Given the description of an element on the screen output the (x, y) to click on. 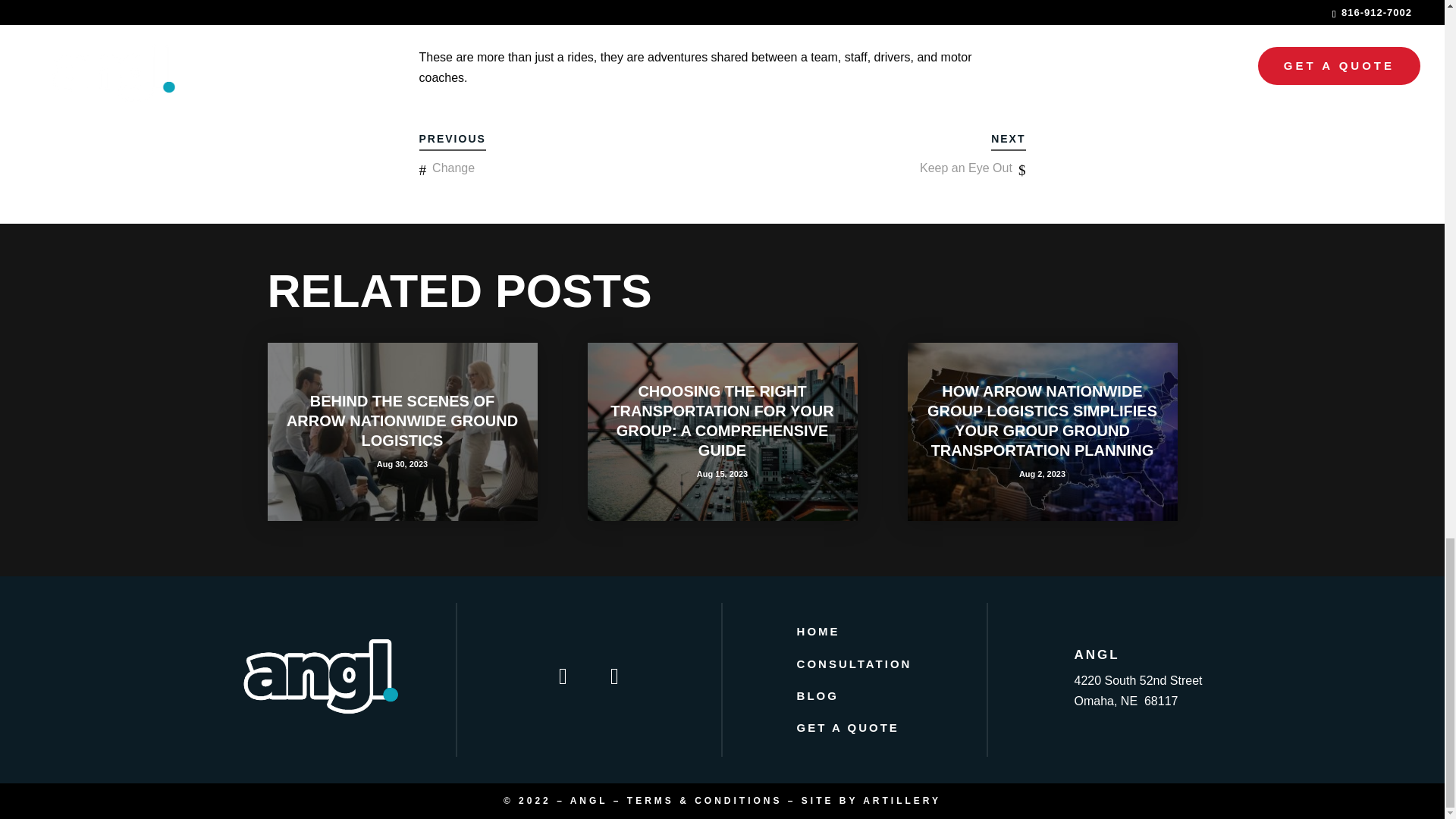
BLOG (817, 695)
BEHIND THE SCENES OF ARROW NATIONWIDE GROUND LOGISTICS (402, 420)
Change (453, 167)
CONSULTATION (854, 663)
GET A QUOTE (847, 727)
Keep an Eye Out (965, 167)
Follow on Facebook (562, 676)
HOME (818, 631)
Follow on X (614, 676)
